Given the description of an element on the screen output the (x, y) to click on. 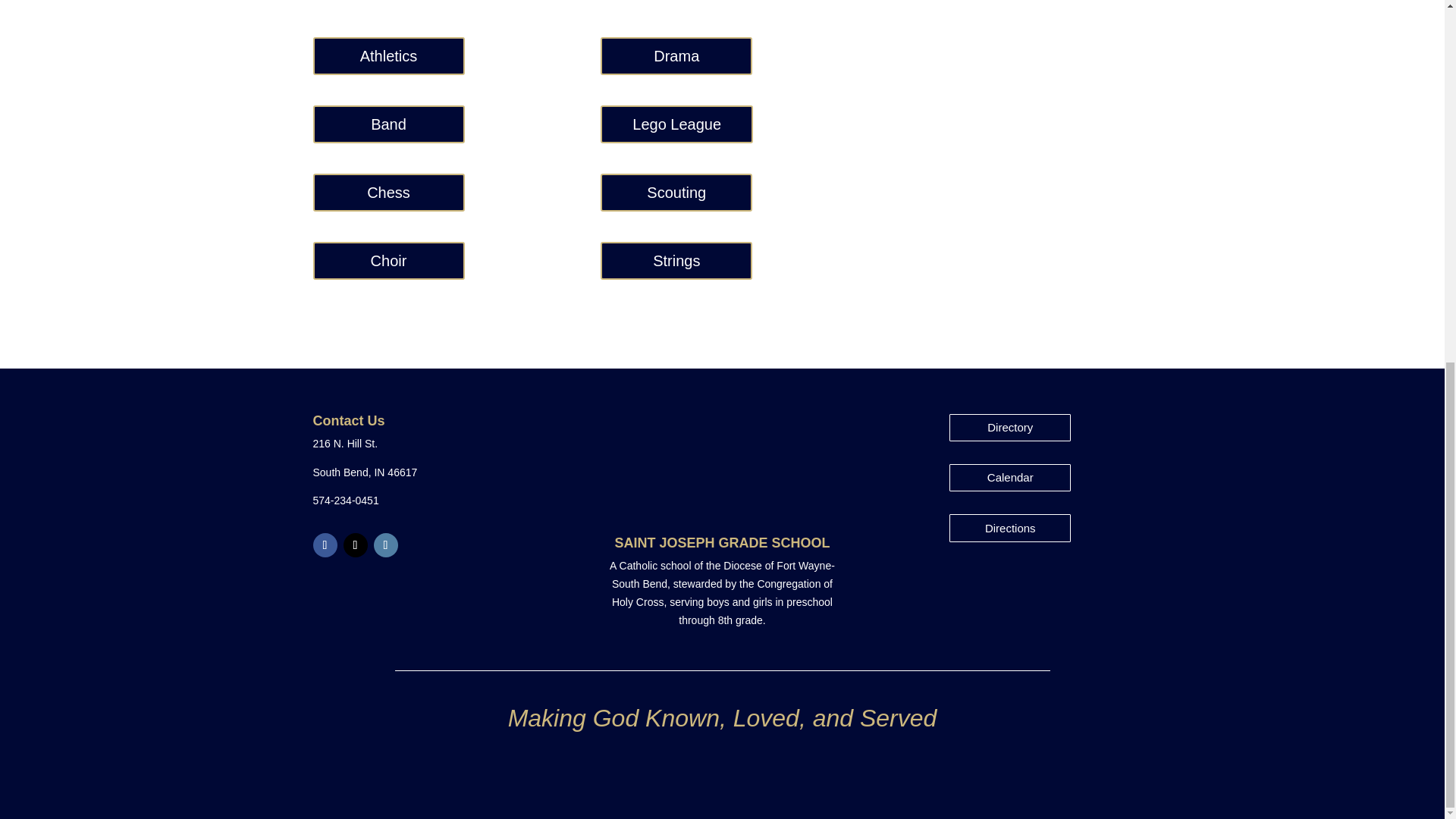
Follow on Facebook (324, 545)
Follow on Twitter (354, 545)
Follow on Instagram (384, 545)
